Given the description of an element on the screen output the (x, y) to click on. 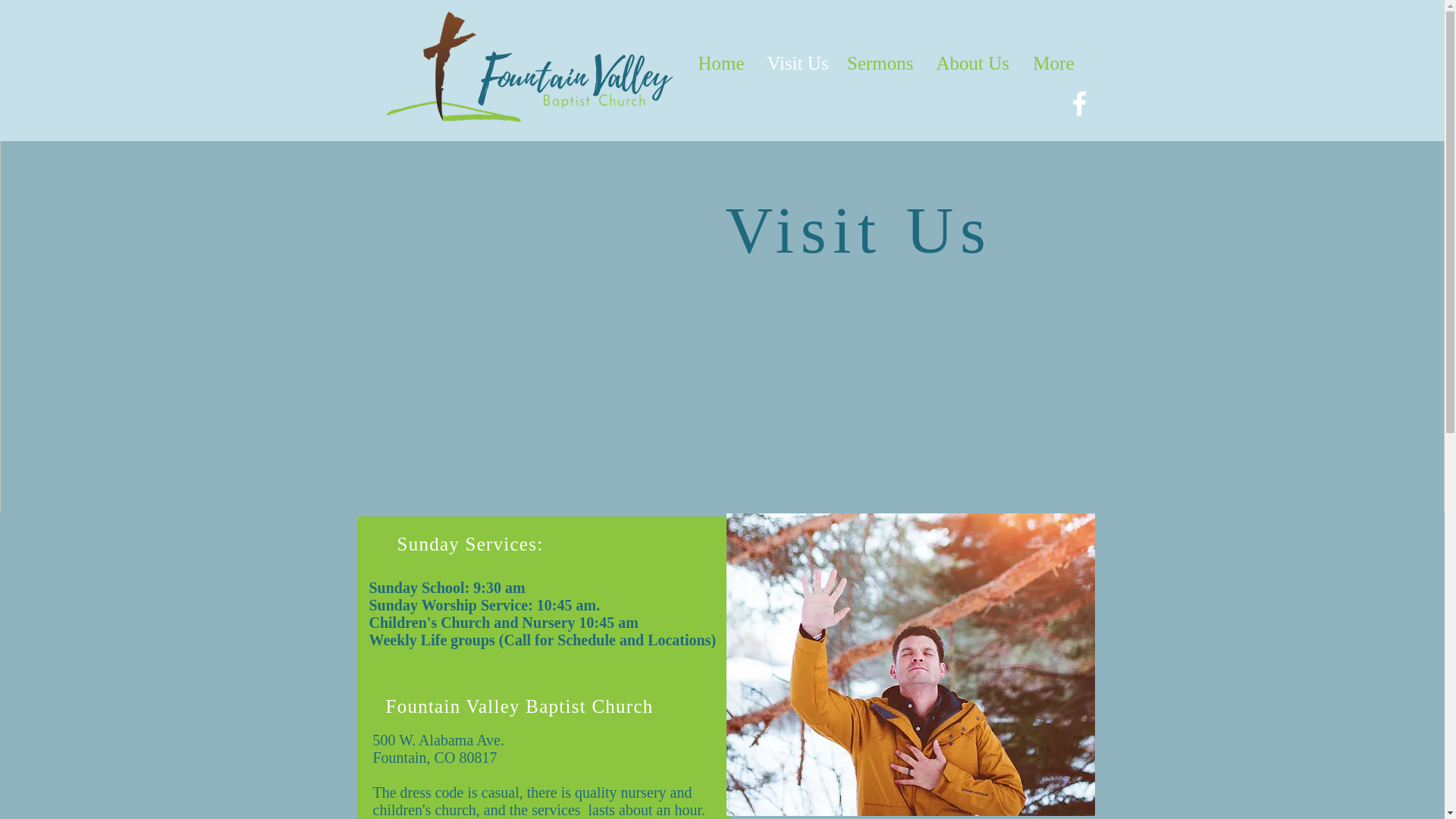
Sermons (879, 63)
Visit Us (794, 63)
About Us (972, 63)
Home (719, 63)
